Given the description of an element on the screen output the (x, y) to click on. 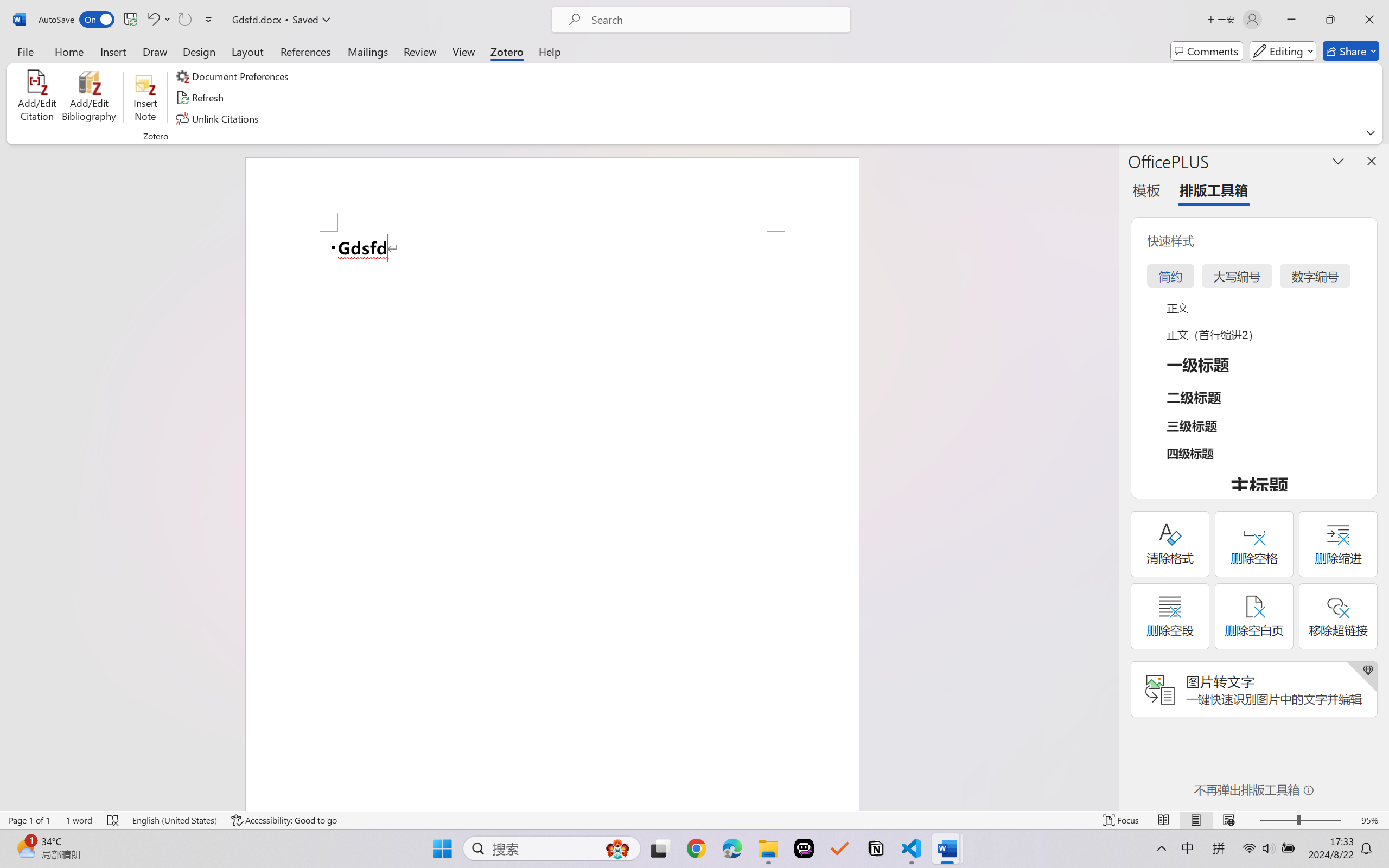
Add/Edit Bibliography (88, 97)
